Given the description of an element on the screen output the (x, y) to click on. 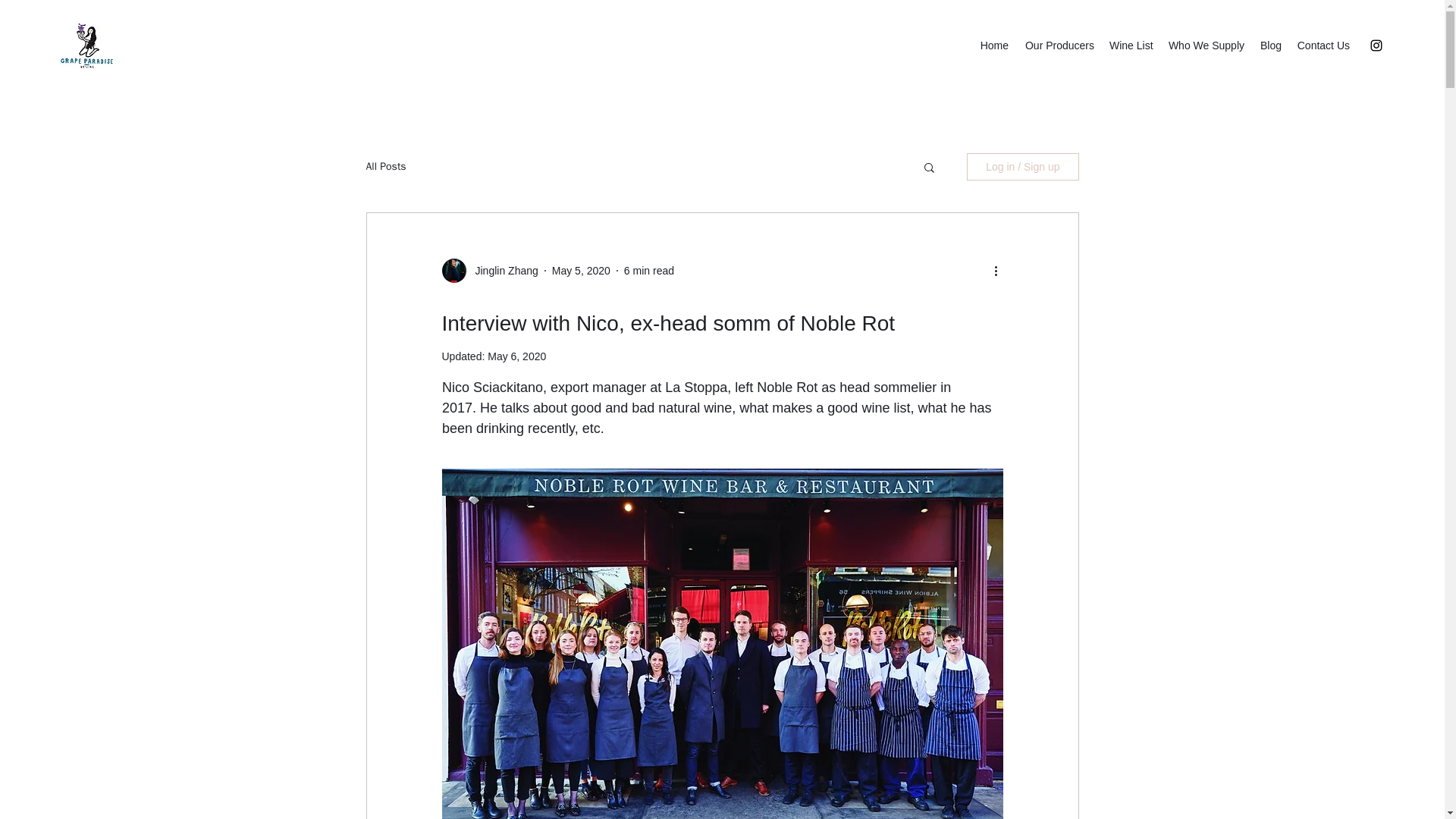
May 6, 2020 (516, 356)
Jinglin Zhang (501, 270)
All Posts (385, 166)
Blog (1270, 45)
Contact Us (1322, 45)
Who We Supply (1206, 45)
May 5, 2020 (580, 269)
Home (994, 45)
Wine List (1131, 45)
6 min read (649, 269)
Our Producers (1059, 45)
